Given the description of an element on the screen output the (x, y) to click on. 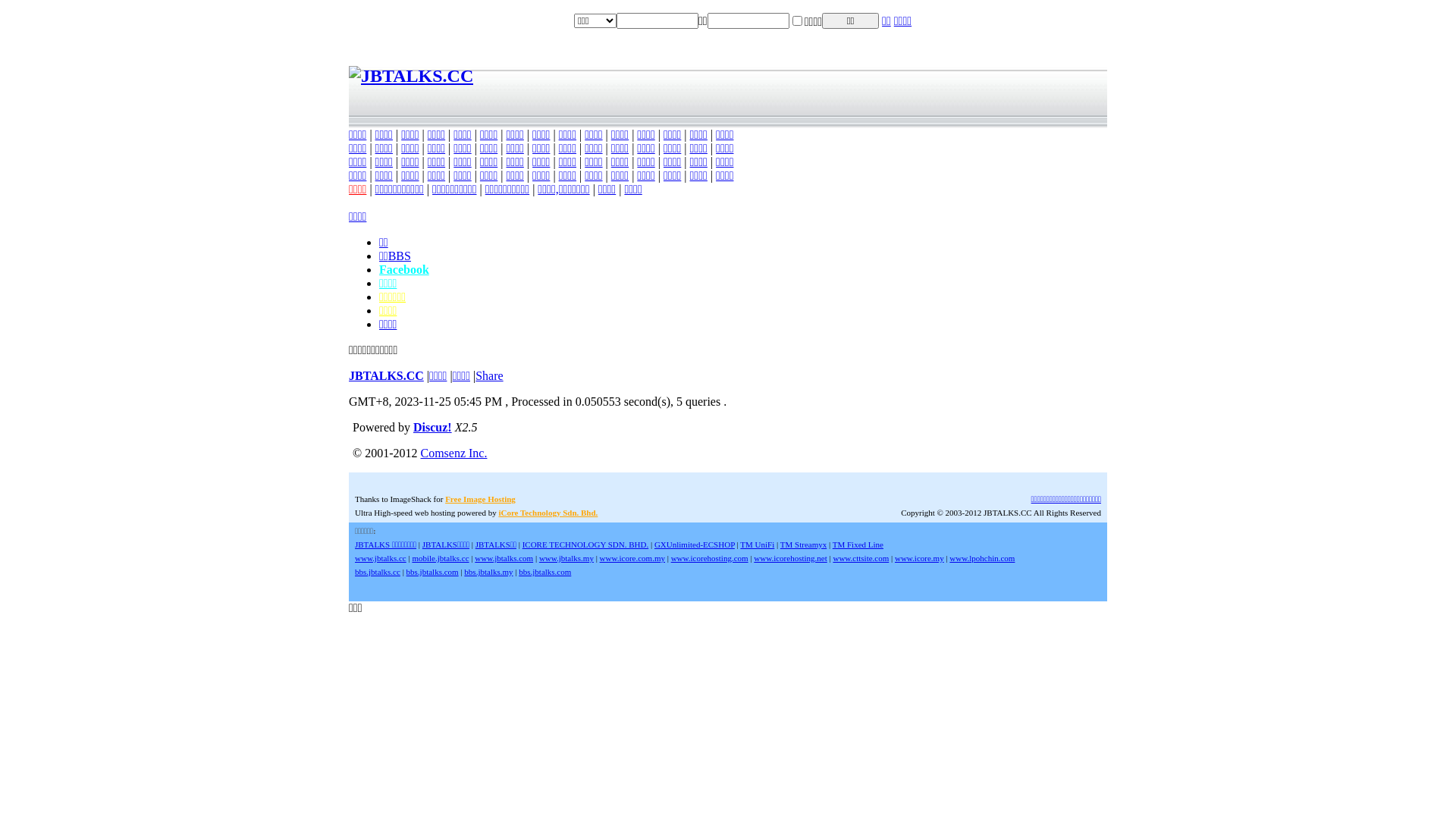
TM Fixed Line Element type: text (857, 544)
ICORE TECHNOLOGY SDN. BHD. Element type: text (585, 544)
JBTALKS.CC Element type: hover (410, 75)
www.icorehosting.net Element type: text (789, 557)
Facebook Element type: text (404, 269)
Comsenz Inc. Element type: text (453, 452)
mobile.jbtalks.cc Element type: text (439, 557)
GXUnlimited-ECSHOP Element type: text (694, 544)
www.jbtalks.my Element type: text (566, 557)
www.icorehosting.com Element type: text (709, 557)
www.icore.my Element type: text (919, 557)
www.lpohchin.com Element type: text (981, 557)
www.jbtalks.com Element type: text (503, 557)
bbs.jbtalks.com Element type: text (432, 571)
www.jbtalks.cc Element type: text (380, 557)
Share Element type: text (488, 375)
bbs.jbtalks.cc Element type: text (377, 571)
bbs.jbtalks.my Element type: text (488, 571)
Discuz! Element type: text (432, 426)
Free Image Hosting Element type: text (480, 498)
www.cttsite.com Element type: text (860, 557)
www.icore.com.my Element type: text (632, 557)
bbs.jbtalks.com Element type: text (544, 571)
iCore Technology Sdn. Bhd. Element type: text (547, 512)
TM UniFi Element type: text (757, 544)
JBTALKS.CC Element type: text (385, 375)
TM Streamyx Element type: text (803, 544)
